Given the description of an element on the screen output the (x, y) to click on. 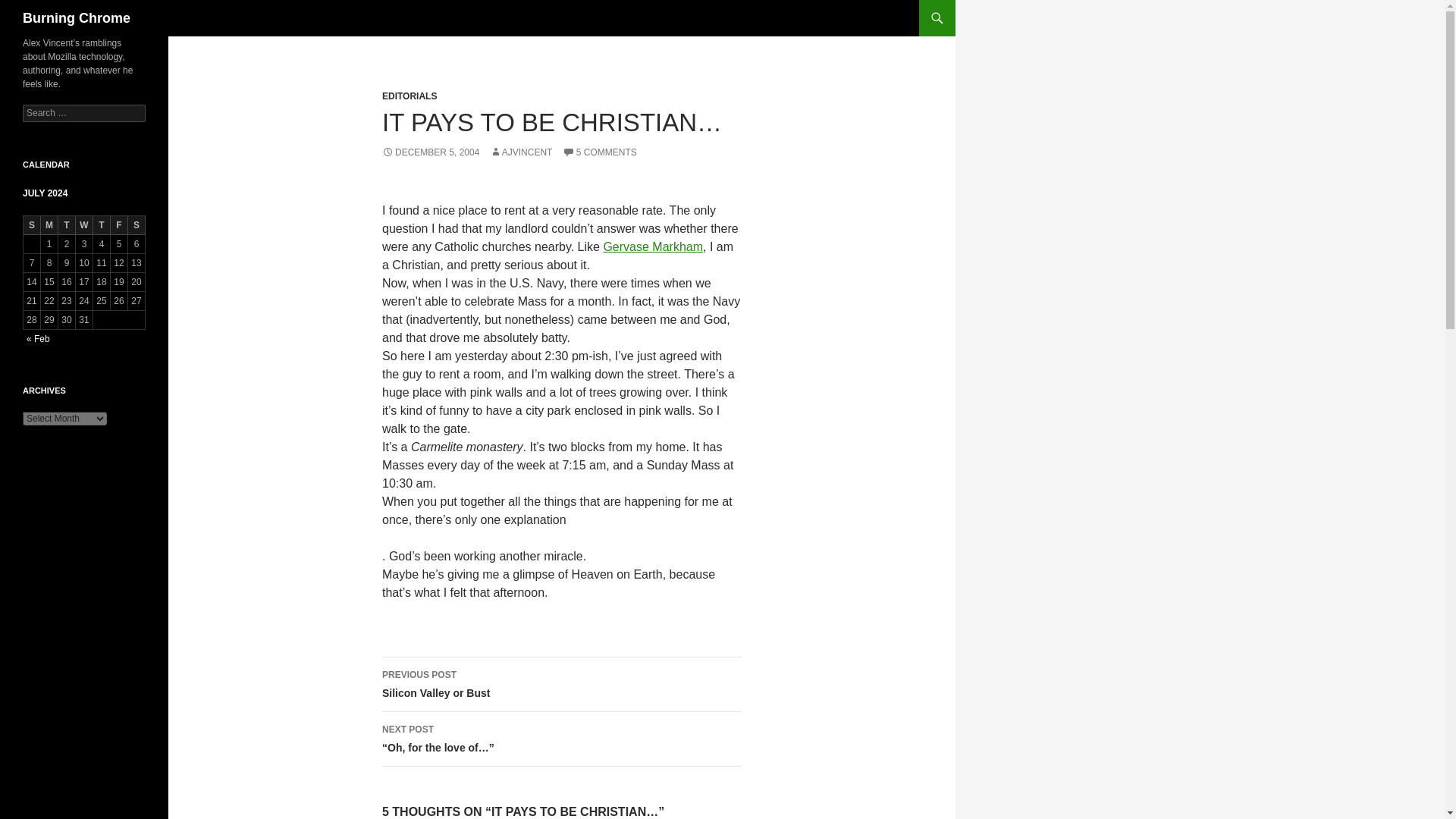
Wednesday (84, 225)
Gervase Markham (652, 246)
Saturday (136, 225)
AJVINCENT (521, 152)
Tuesday (66, 225)
Monday (49, 225)
Thursday (101, 225)
5 COMMENTS (599, 152)
Search (30, 8)
Burning Chrome (77, 18)
EDITORIALS (408, 95)
Friday (119, 225)
Sunday (31, 225)
DECEMBER 5, 2004 (430, 152)
